Given the description of an element on the screen output the (x, y) to click on. 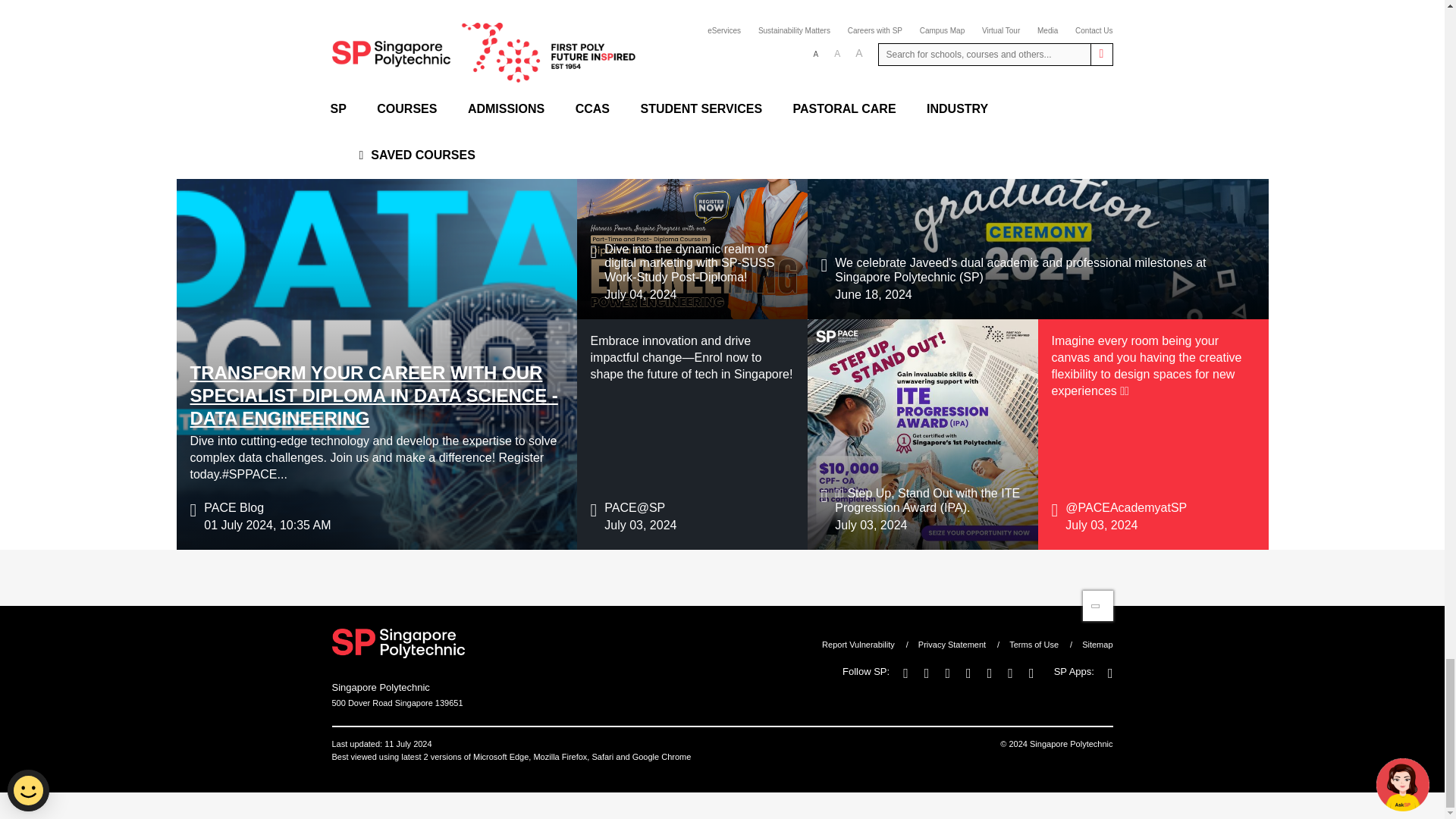
Go to top (1098, 605)
